Given the description of an element on the screen output the (x, y) to click on. 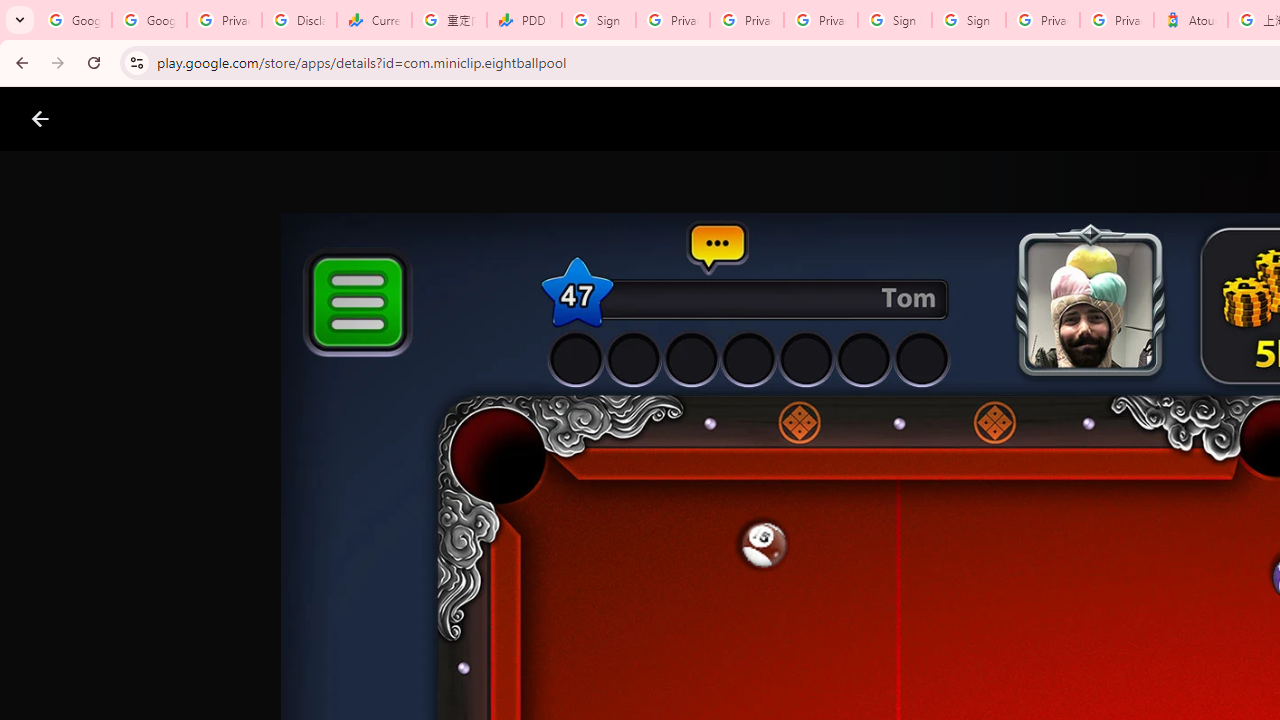
Close screenshot viewer (39, 119)
Currencies - Google Finance (374, 20)
Atour Hotel - Google hotels (1190, 20)
Google Workspace Admin Community (74, 20)
Sign in - Google Accounts (894, 20)
Kids (385, 119)
More info about this content rating (1013, 678)
